Given the description of an element on the screen output the (x, y) to click on. 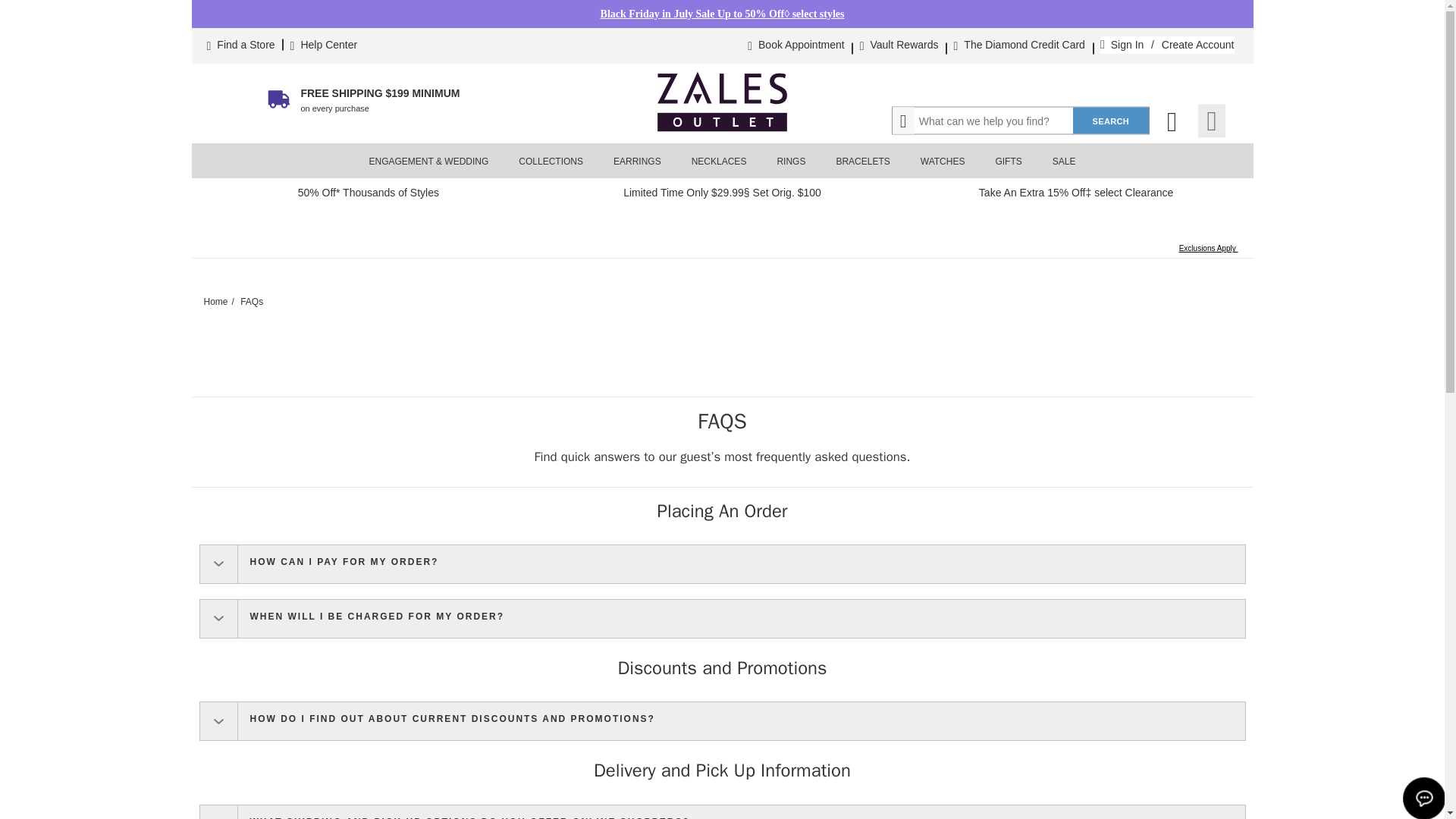
Create Account (1197, 44)
The Diamond Credit Card (1023, 44)
Book Appointment (801, 44)
The Diamond Credit Card (1023, 44)
Skip to Content (221, 12)
Vault Rewards (904, 44)
Vault Rewards (904, 44)
on every purchase (334, 108)
Skip to Navigation (227, 12)
Sign In (1127, 44)
COLLECTIONS (550, 161)
Find a Store (245, 44)
SEARCH (1110, 120)
Help Center (327, 44)
Book Appointment (801, 44)
